Given the description of an element on the screen output the (x, y) to click on. 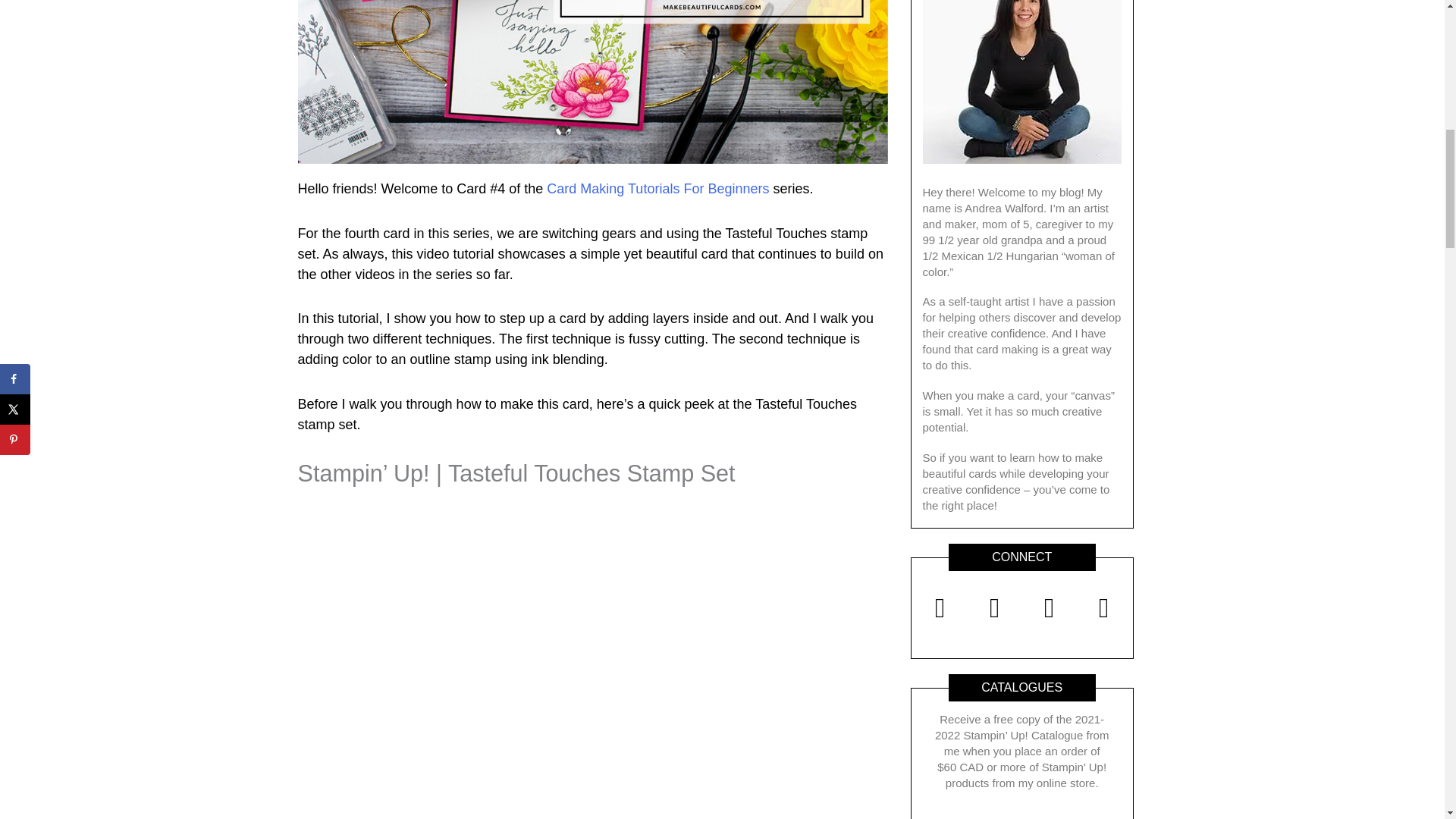
Card Making Tutorials For Beginners (657, 188)
